Given the description of an element on the screen output the (x, y) to click on. 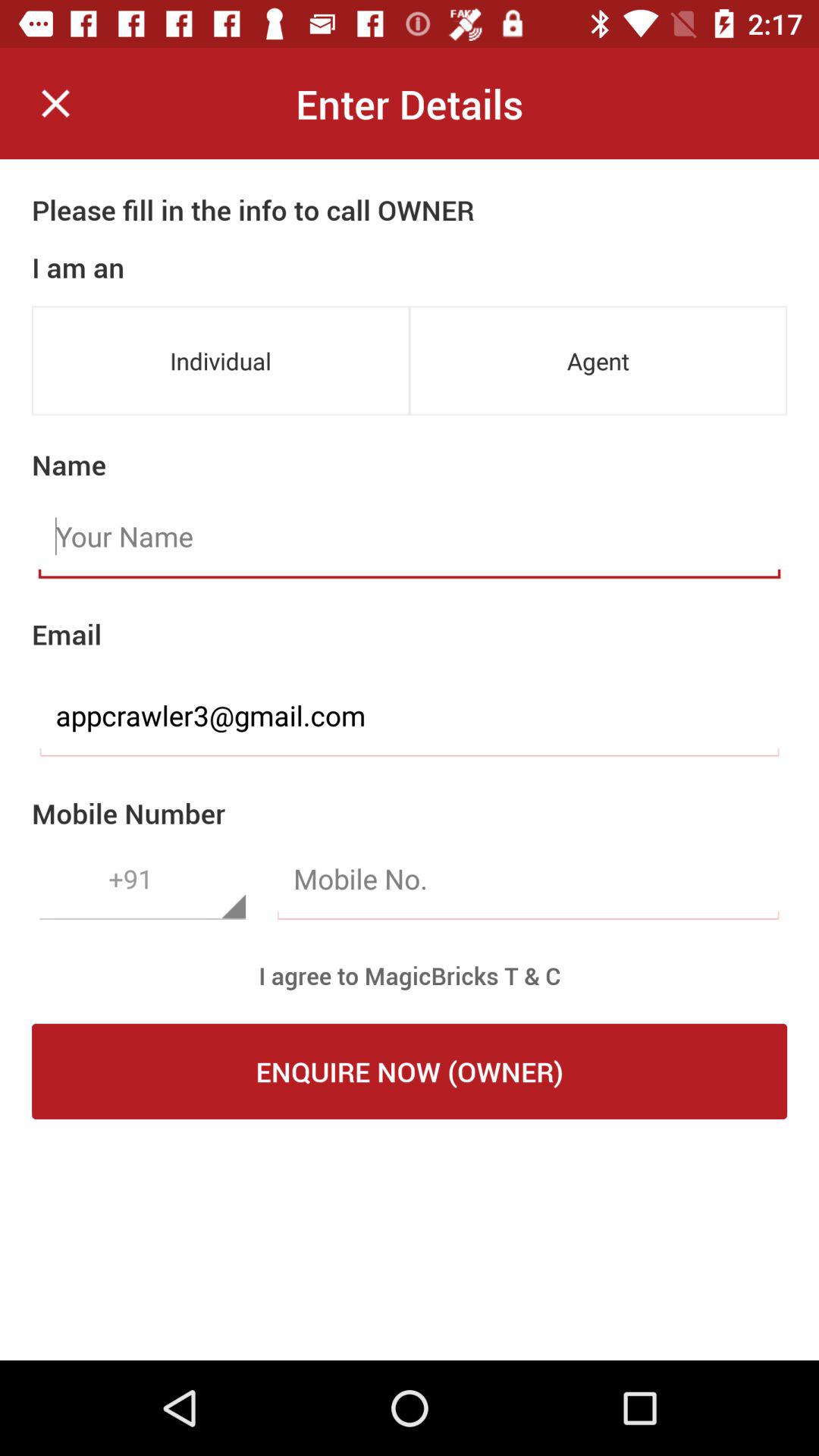
input your name (409, 537)
